Given the description of an element on the screen output the (x, y) to click on. 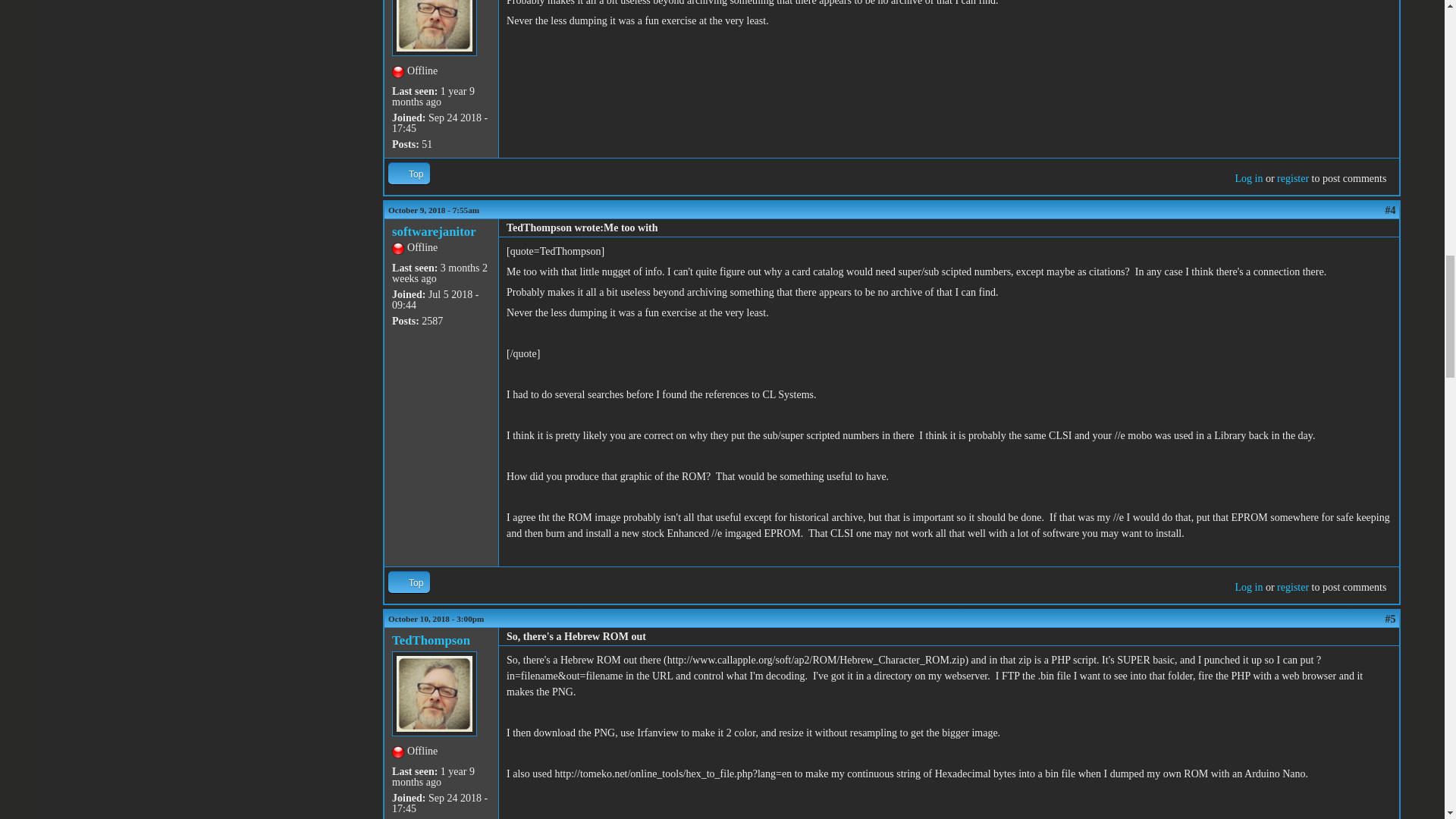
TedThompson's picture (434, 28)
Top (408, 173)
register (1292, 178)
Log in (1248, 178)
TedThompson's picture (434, 693)
View user profile. (430, 640)
Jump to top of page (408, 173)
View user profile. (433, 231)
Jump to top of page (408, 581)
